Given the description of an element on the screen output the (x, y) to click on. 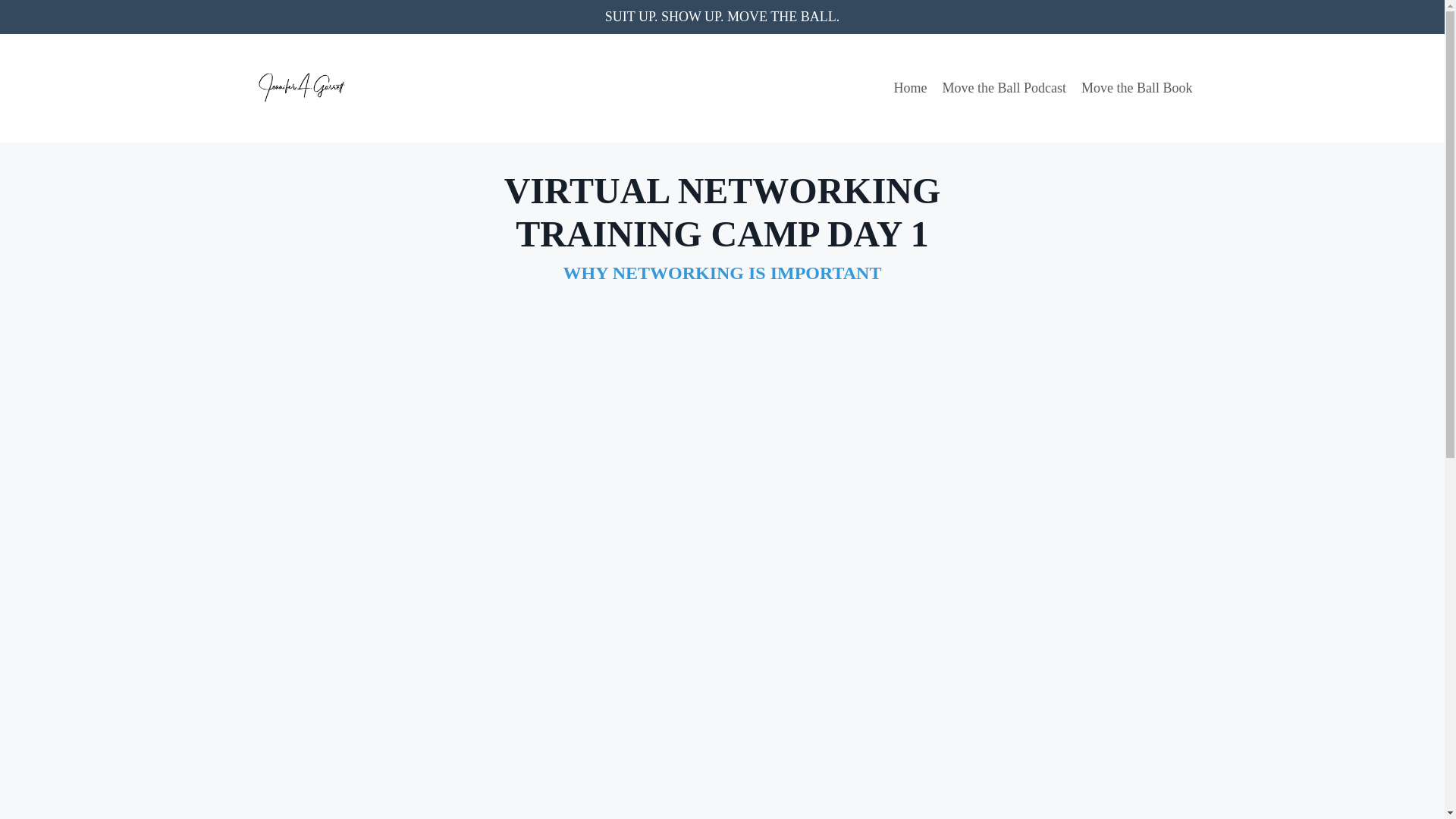
Move the Ball Podcast (1003, 87)
Home (910, 87)
Move the Ball Book (1136, 87)
